Given the description of an element on the screen output the (x, y) to click on. 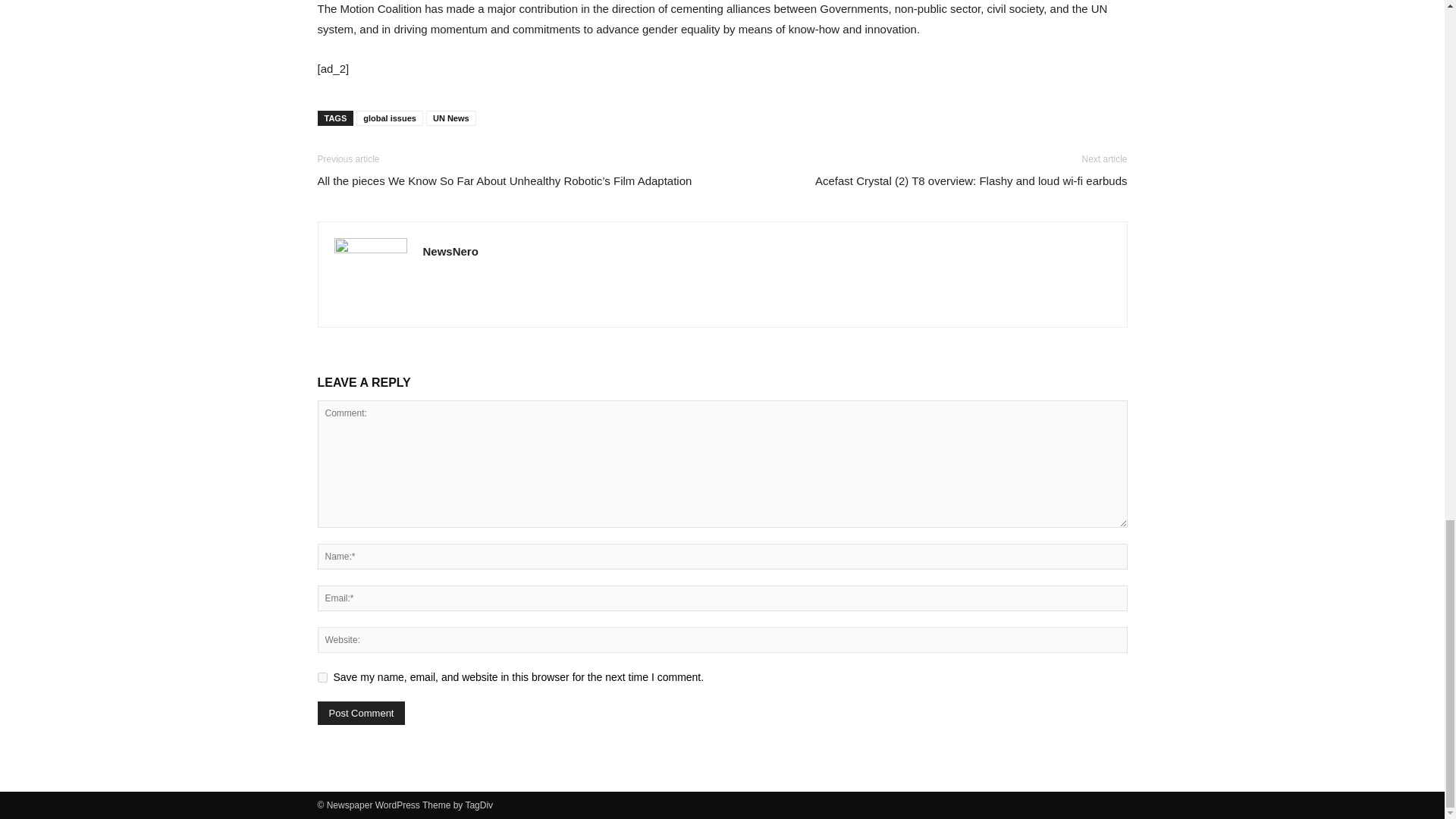
yes (321, 677)
UN News (451, 118)
global issues (389, 118)
Post Comment (360, 712)
